Given the description of an element on the screen output the (x, y) to click on. 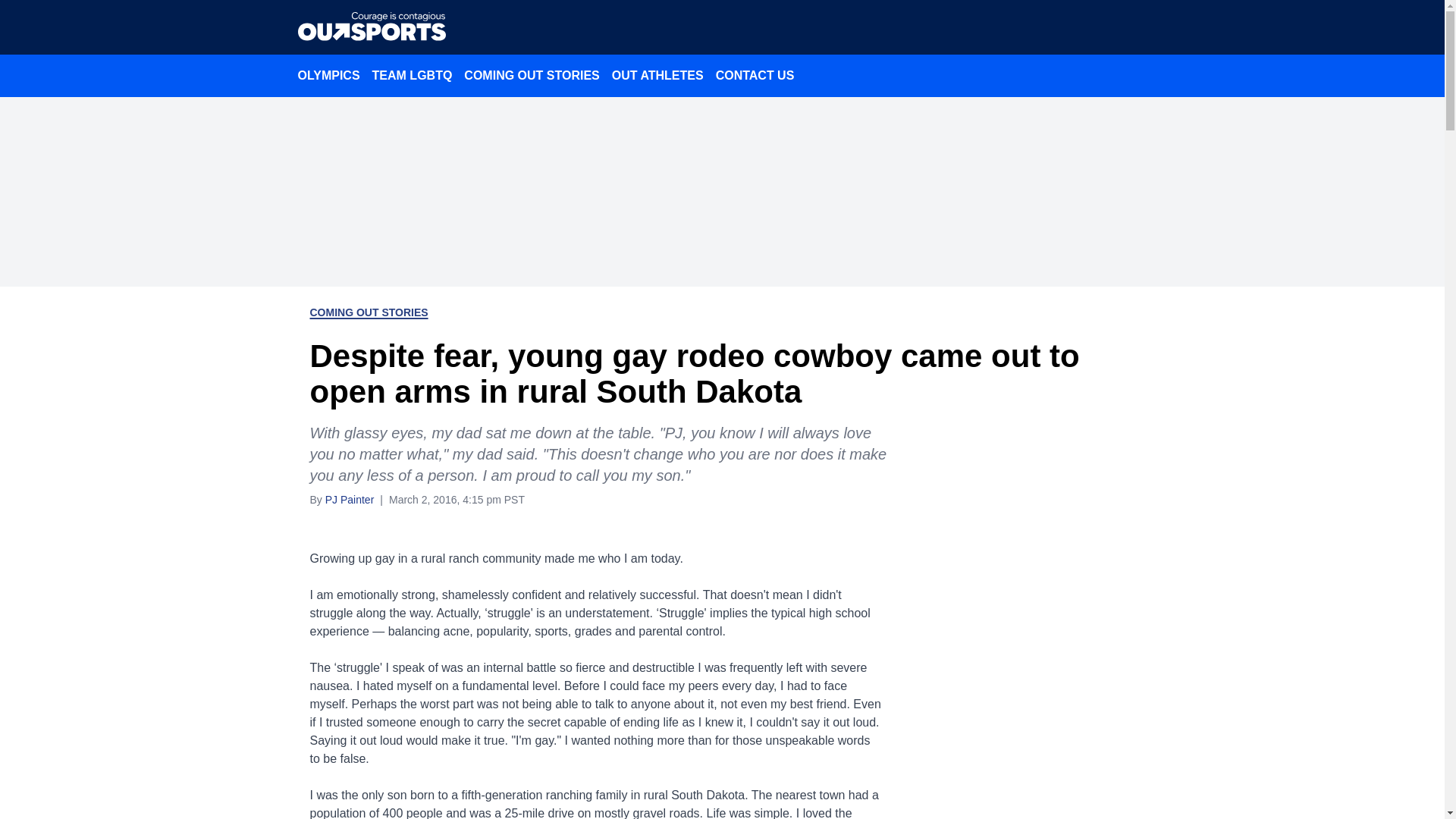
OUT ATHLETES (657, 75)
TEAM LGBTQ (412, 75)
COMING OUT STORIES (531, 75)
OLYMPICS (328, 75)
COMING OUT STORIES (368, 312)
CONTACT US (755, 75)
